Given the description of an element on the screen output the (x, y) to click on. 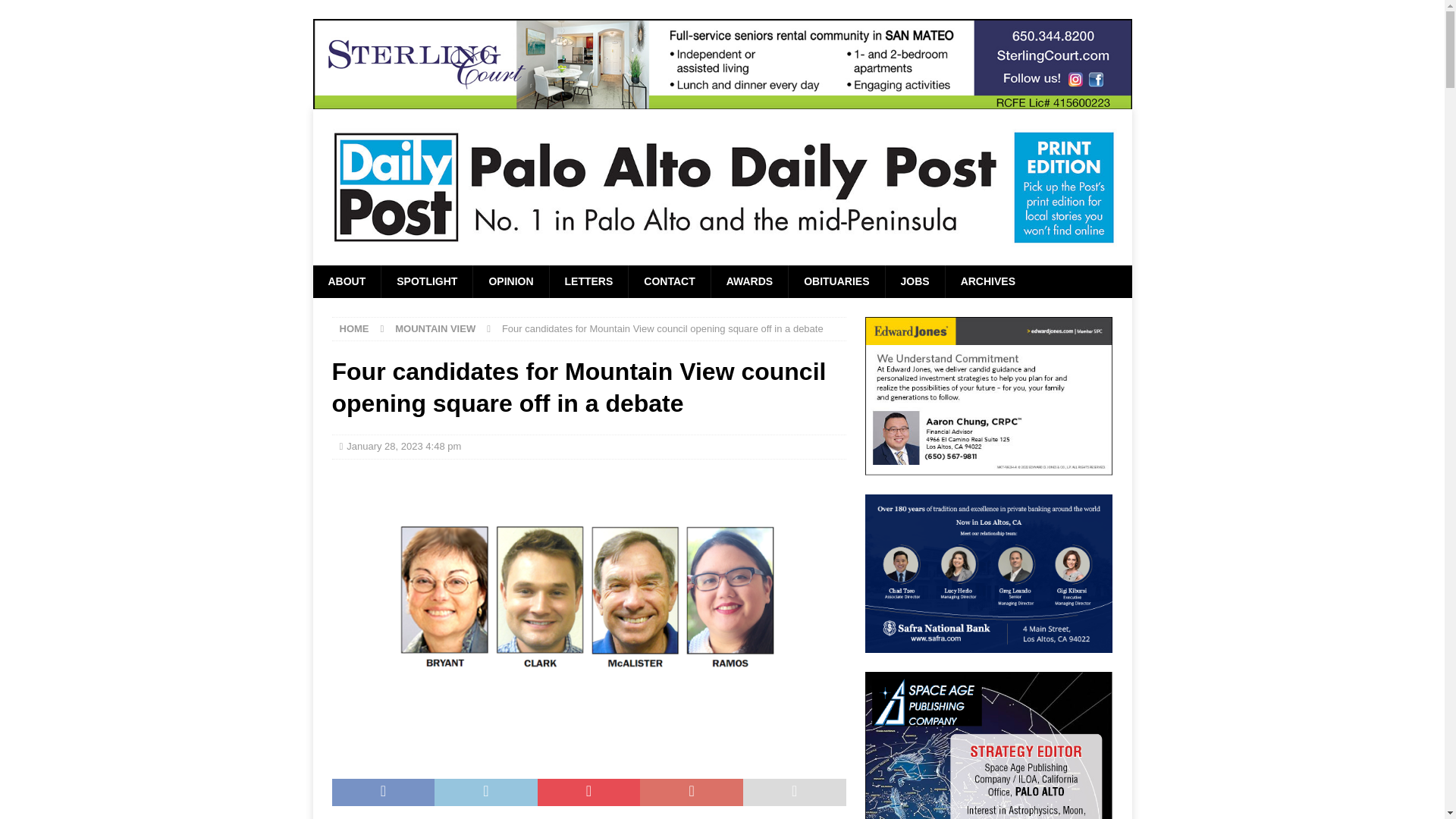
ABOUT (346, 281)
JOBS (914, 281)
AWARDS (748, 281)
MOUNTAIN VIEW (435, 328)
OBITUARIES (835, 281)
ARCHIVES (987, 281)
LETTERS (588, 281)
OPINION (509, 281)
SPOTLIGHT (425, 281)
CONTACT (668, 281)
HOME (354, 328)
January 28, 2023 4:48 pm (403, 446)
